Given the description of an element on the screen output the (x, y) to click on. 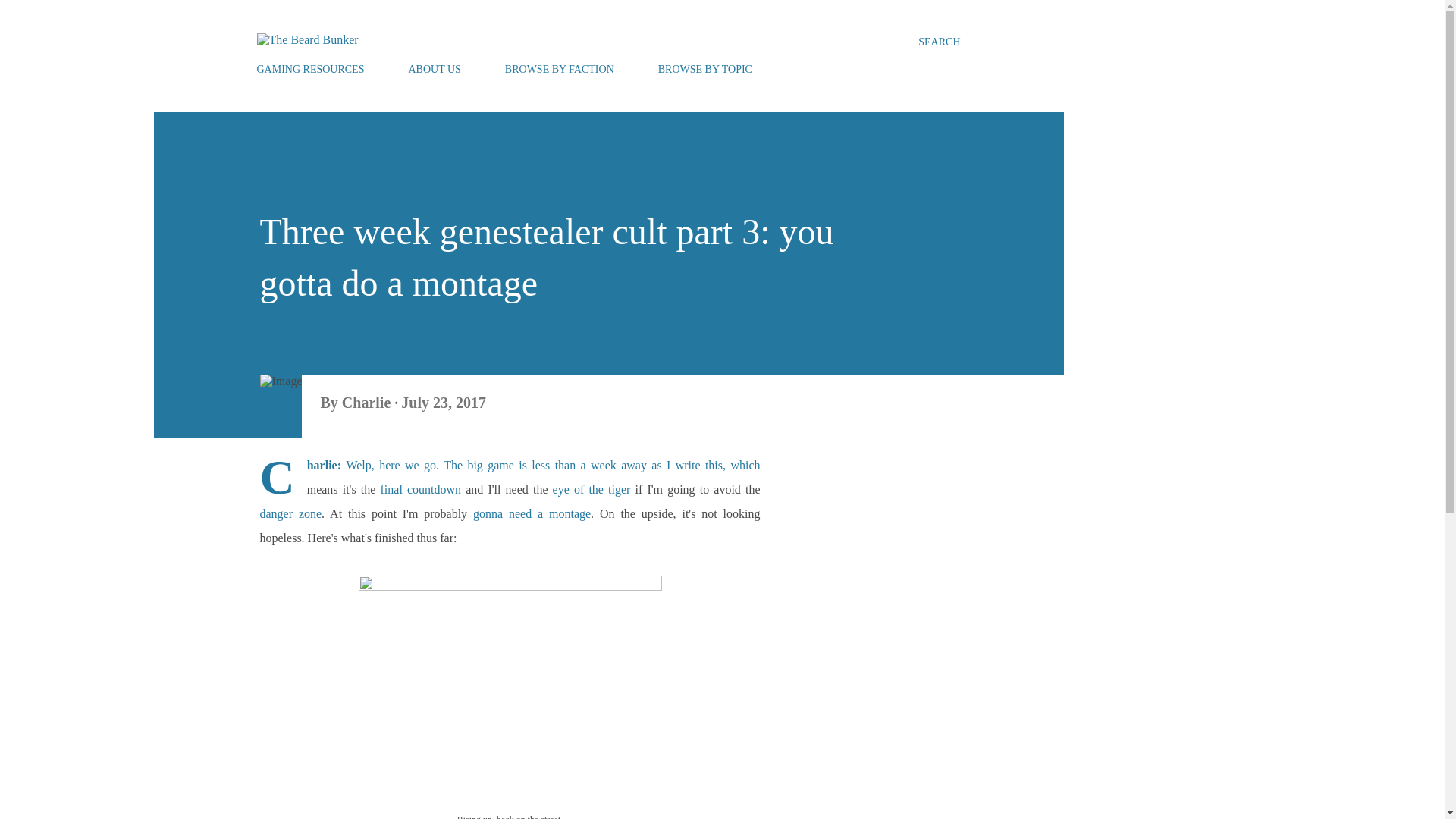
permanent link (443, 402)
author profile (368, 402)
danger zone (290, 513)
SEARCH (938, 42)
final countdown (420, 489)
gonna need a montage (532, 513)
GAMING RESOURCES (314, 69)
eye of the tiger (591, 489)
BROWSE BY FACTION (559, 69)
ABOUT US (433, 69)
July 23, 2017 (443, 402)
BROWSE BY TOPIC (705, 69)
Charlie (368, 402)
